Given the description of an element on the screen output the (x, y) to click on. 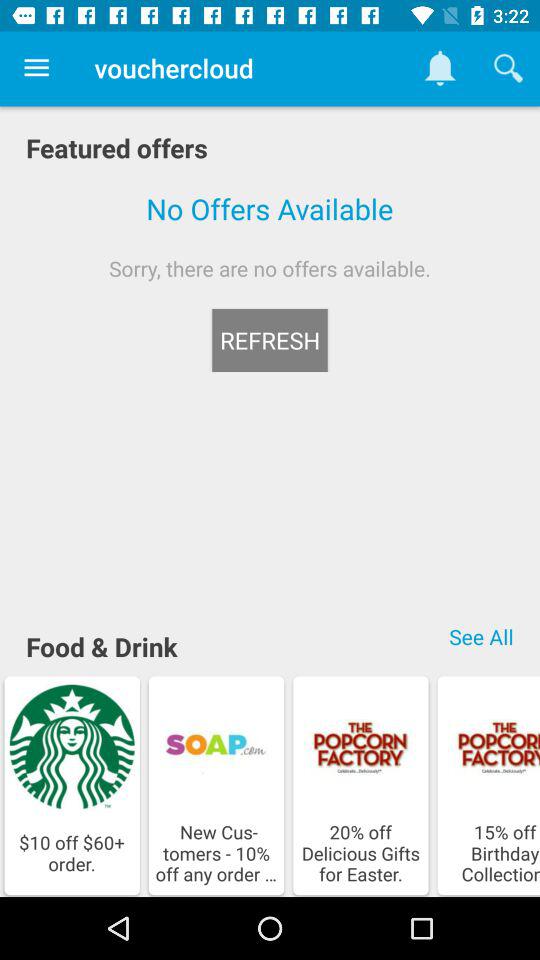
turn off item to the left of the vouchercloud (36, 68)
